Given the description of an element on the screen output the (x, y) to click on. 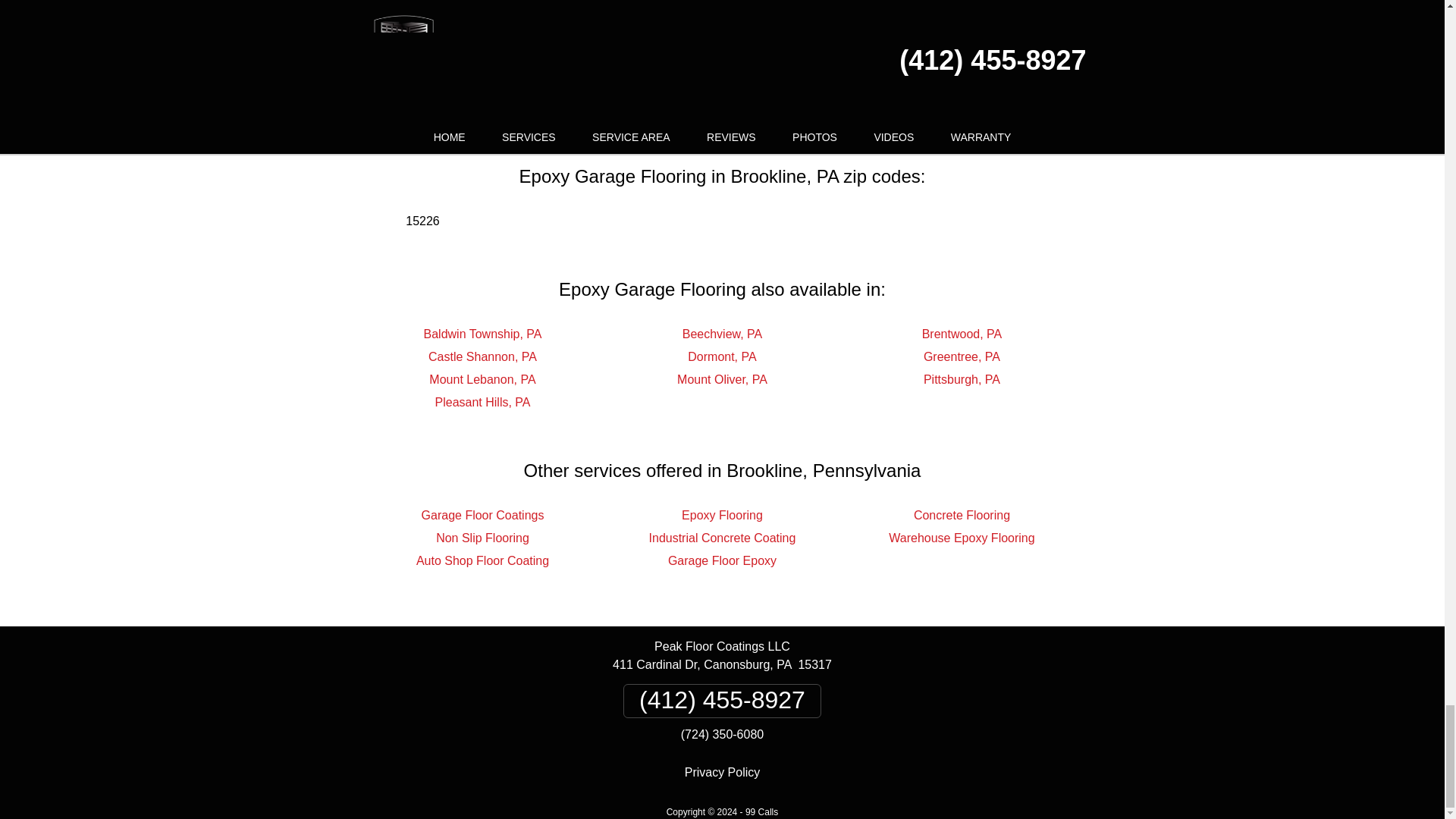
Garage Floor Coatings (483, 514)
Castle Shannon, PA (482, 356)
Pittsburgh, PA (961, 379)
Pleasant Hills, PA (483, 401)
Mount Lebanon, PA (482, 379)
Yelp (725, 81)
Instagram (885, 81)
Dormont, PA (721, 356)
Google (650, 81)
Brentwood, PA (962, 333)
Beechview, PA (722, 333)
Mount Oliver, PA (722, 379)
Houzz (795, 81)
Greentree, PA (961, 356)
Facebook (557, 81)
